Given the description of an element on the screen output the (x, y) to click on. 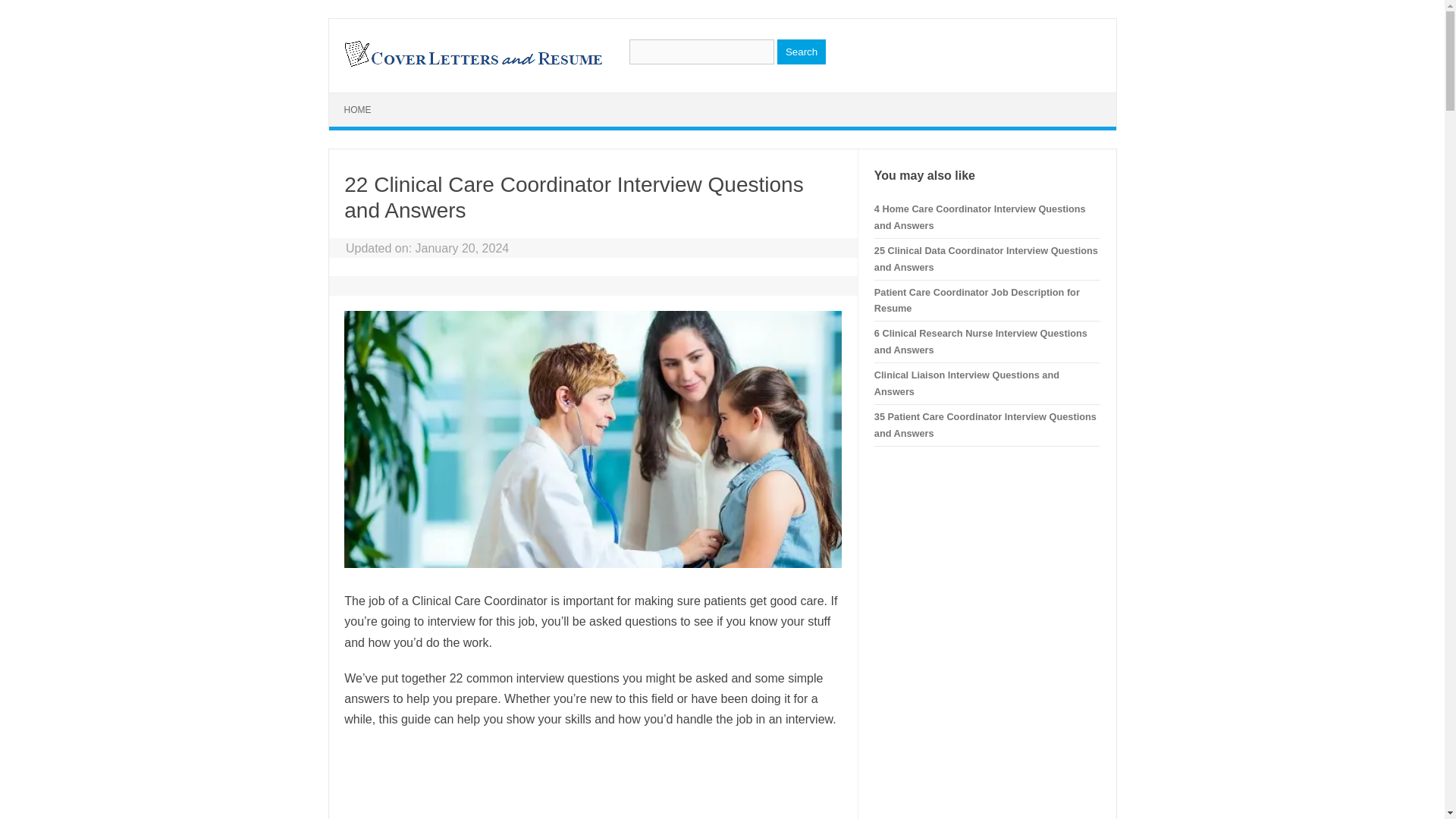
25 Clinical Data Coordinator Interview Questions and Answers (986, 258)
HOME (358, 109)
Clinical Liaison Interview Questions and Answers (967, 383)
Patient Care Coordinator Job Description for Resume (977, 300)
4 Home Care Coordinator Interview Questions and Answers (980, 216)
Cover Letters and Resume Samples (471, 65)
35 Patient Care Coordinator Interview Questions and Answers (985, 424)
Search (801, 51)
Search (801, 51)
Advertisement (592, 781)
6 Clinical Research Nurse Interview Questions and Answers (981, 341)
